Given the description of an element on the screen output the (x, y) to click on. 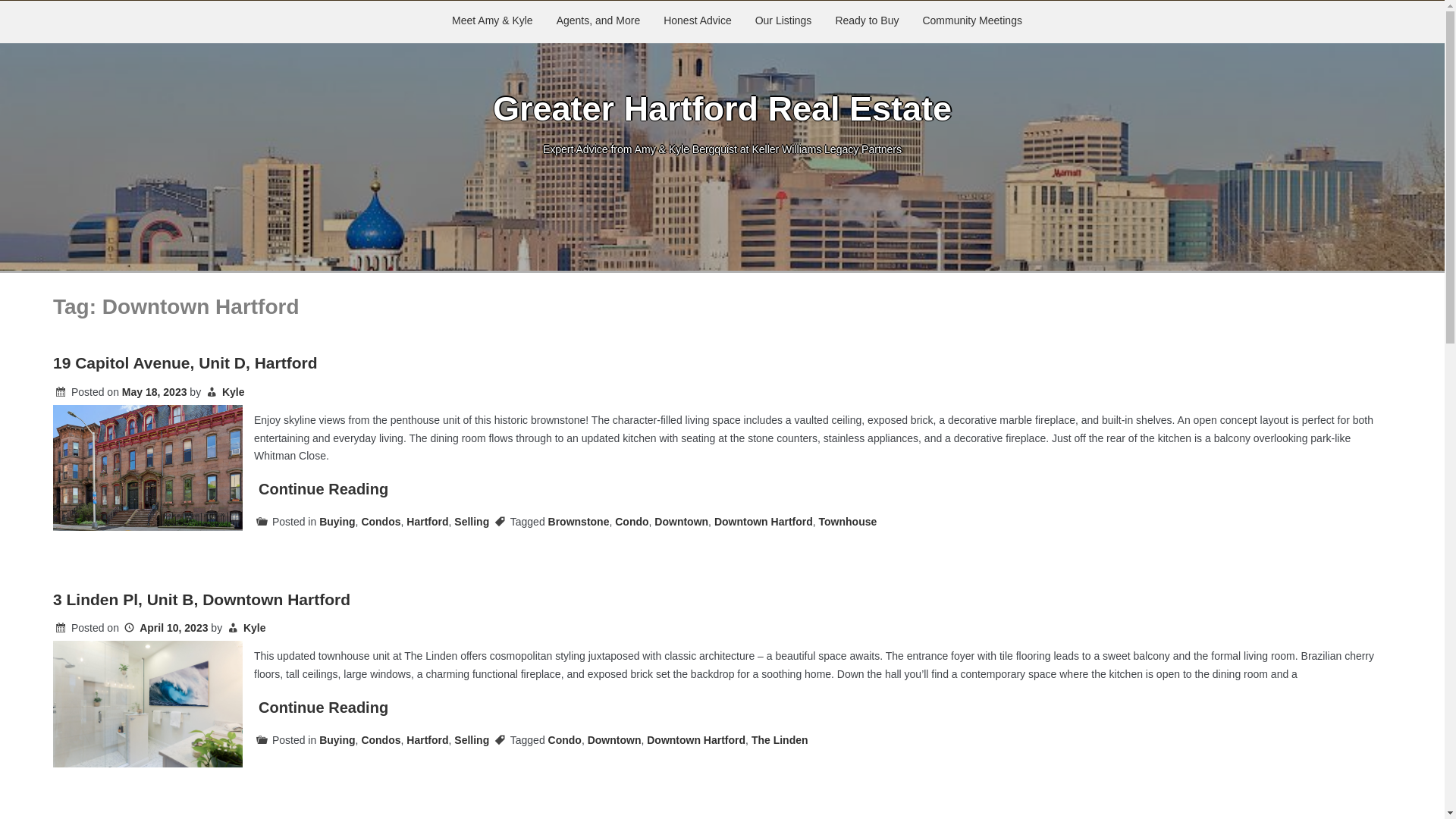
Kyle (233, 391)
Kyle (254, 627)
Condo (630, 521)
Townhouse (847, 521)
Continue Reading (323, 707)
Honest Advice (698, 21)
Continue Reading (323, 488)
May 18, 2023 (154, 391)
Hartford (427, 521)
Community Meetings (972, 21)
Downtown (680, 521)
Ready to Buy (867, 21)
19 Capitol Avenue, Unit D, Hartford (184, 362)
Our Listings (784, 21)
3 Linden Pl, Unit B, Downtown Hartford (201, 599)
